Given the description of an element on the screen output the (x, y) to click on. 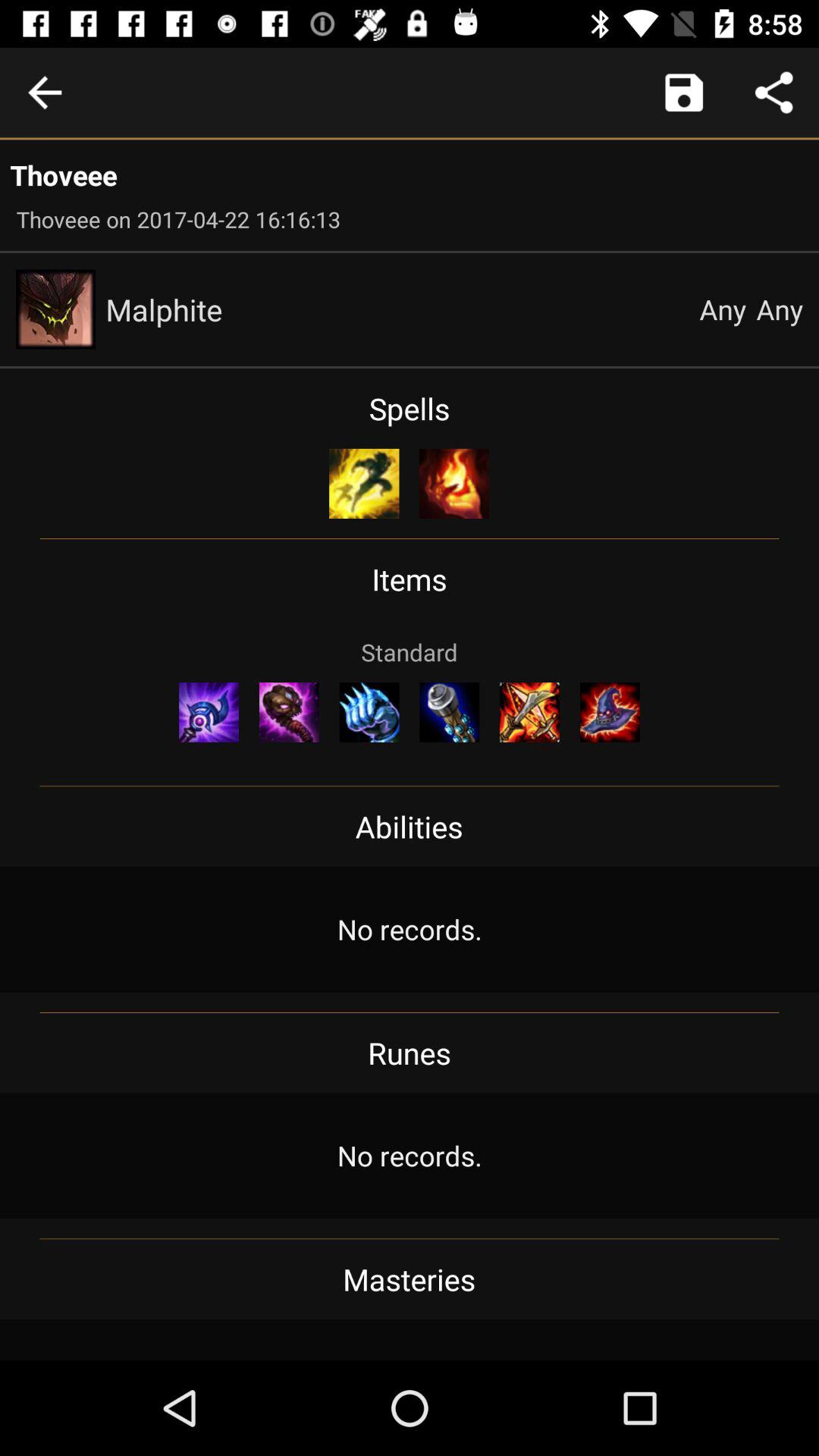
tap icon on the right (609, 712)
